Given the description of an element on the screen output the (x, y) to click on. 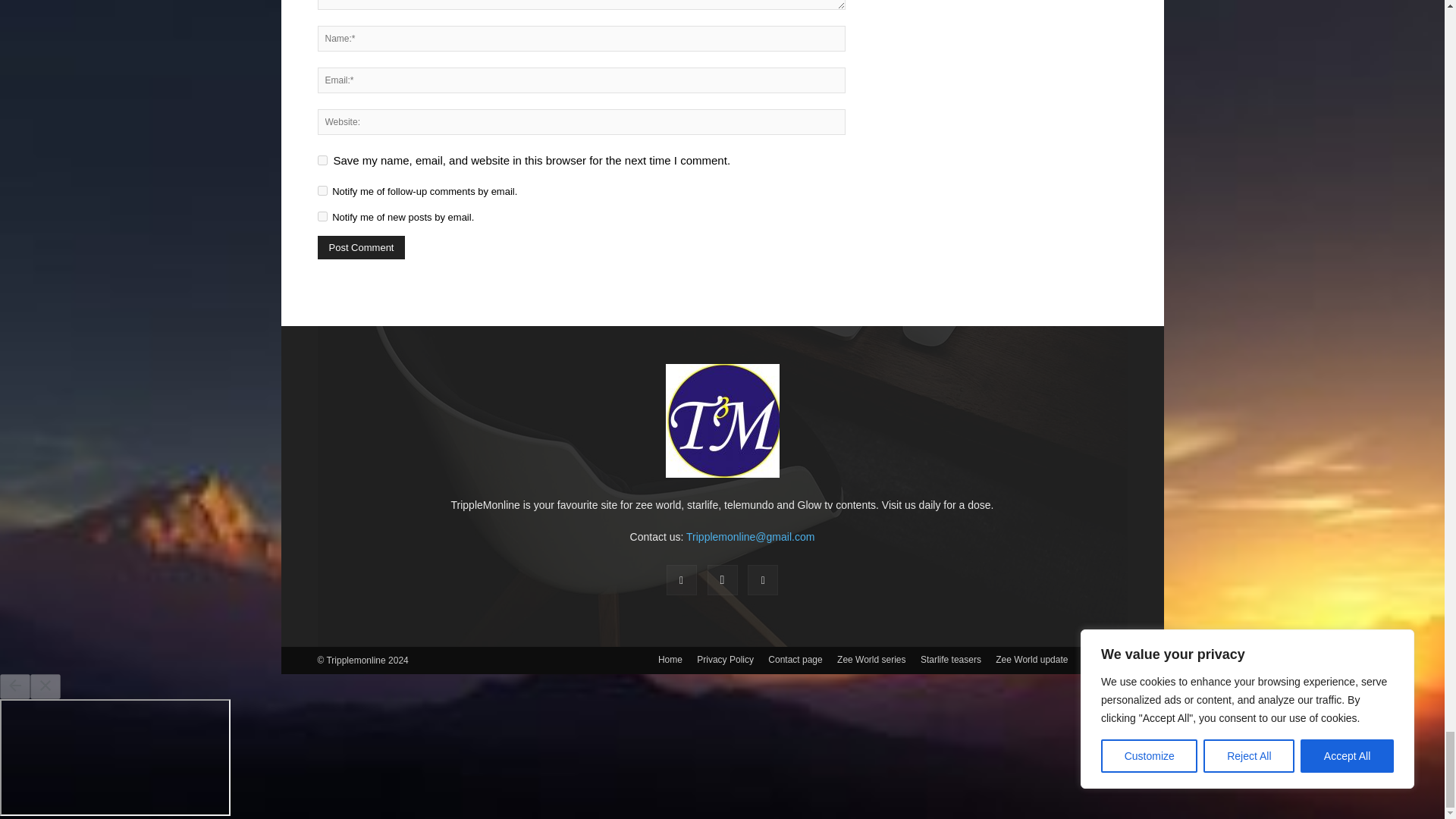
yes (321, 160)
Post Comment (360, 247)
subscribe (321, 190)
subscribe (321, 216)
